Given the description of an element on the screen output the (x, y) to click on. 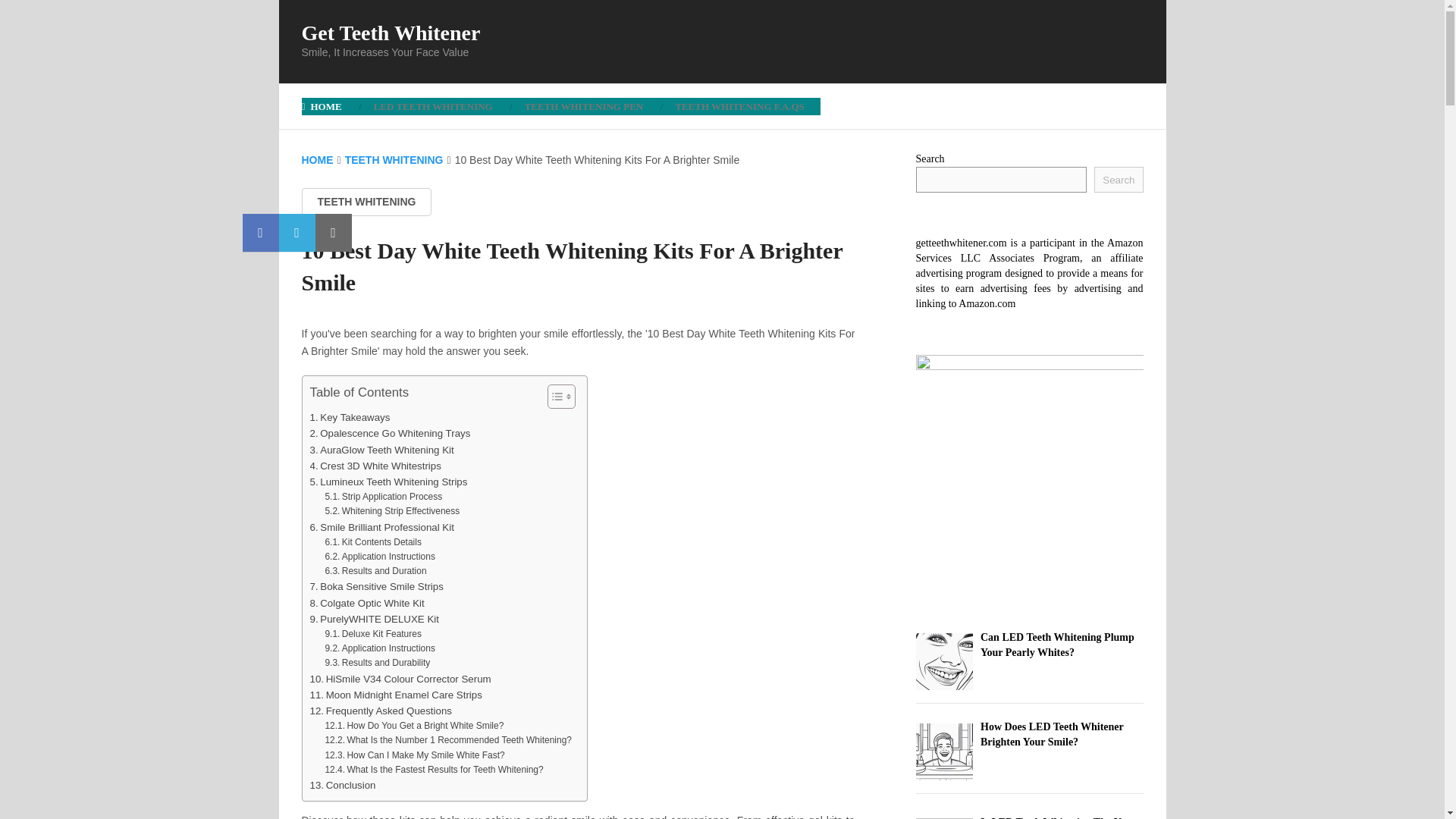
What Is the Fastest Results for Teeth Whitening? (433, 769)
Smile Brilliant Professional Kit (380, 527)
Application Instructions (378, 648)
How Do You Get a Bright White Smile? (413, 726)
PurelyWHITE DELUXE Kit (373, 618)
Deluxe Kit Features (372, 634)
Lumineux Teeth Whitening Strips (387, 481)
Crest 3D White Whitestrips (374, 465)
What Is the Number 1 Recommended Teeth Whitening? (448, 740)
Key Takeaways (349, 417)
Opalescence Go Whitening Trays (389, 433)
TEETH WHITENING F.A.QS (740, 105)
How Can I Make My Smile White Fast? (413, 755)
Application Instructions (378, 556)
Whitening Strip Effectiveness (392, 511)
